Given the description of an element on the screen output the (x, y) to click on. 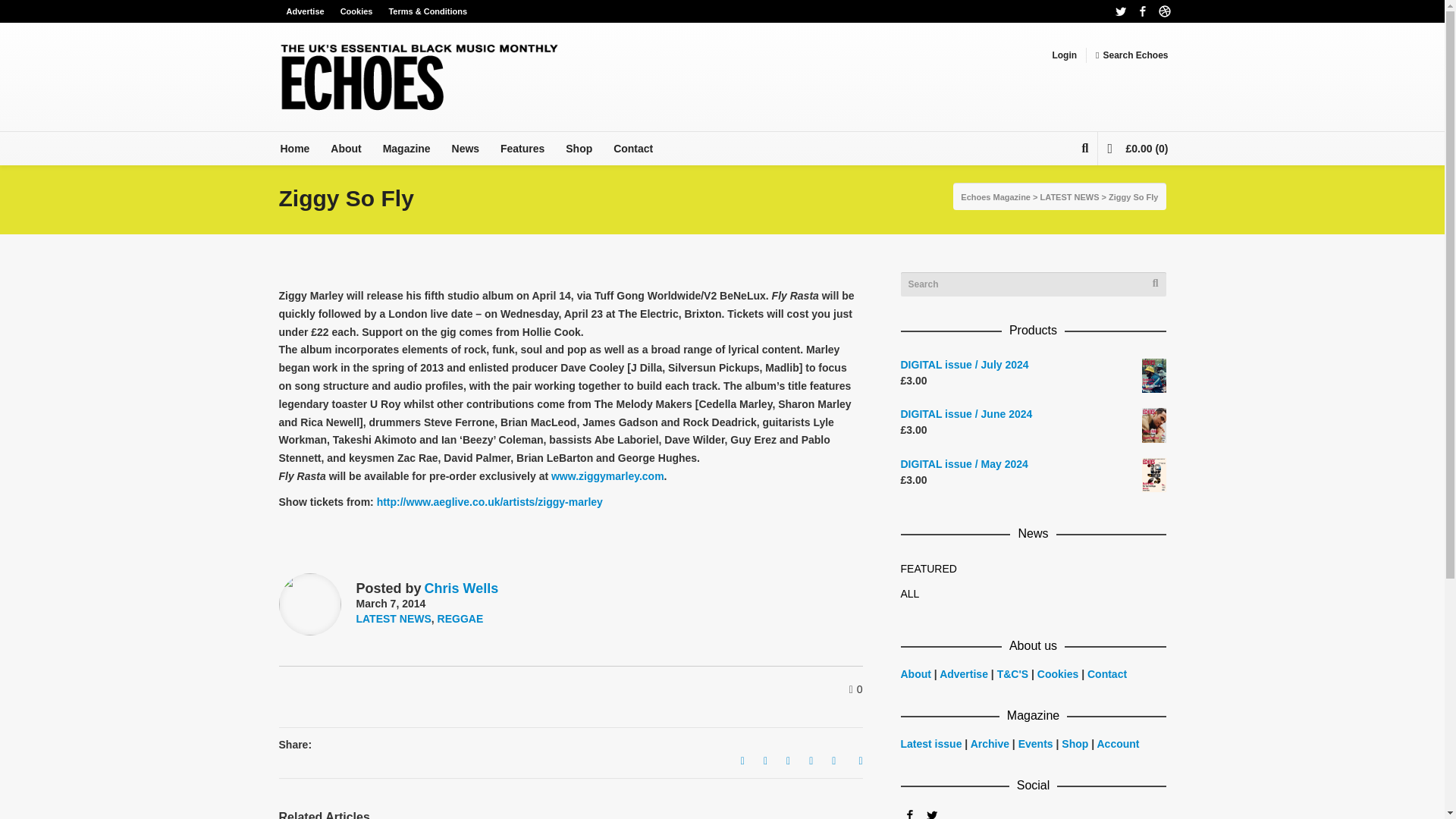
Events (1034, 743)
Contact (1106, 674)
Go to the LATEST NEWS Category archives. (1070, 196)
Advertise (965, 674)
Go to Echoes Magazine. (995, 196)
Latest issue of the magazine (931, 743)
View your shopping bag (1136, 148)
Shop (1074, 743)
Archive (990, 743)
